Given the description of an element on the screen output the (x, y) to click on. 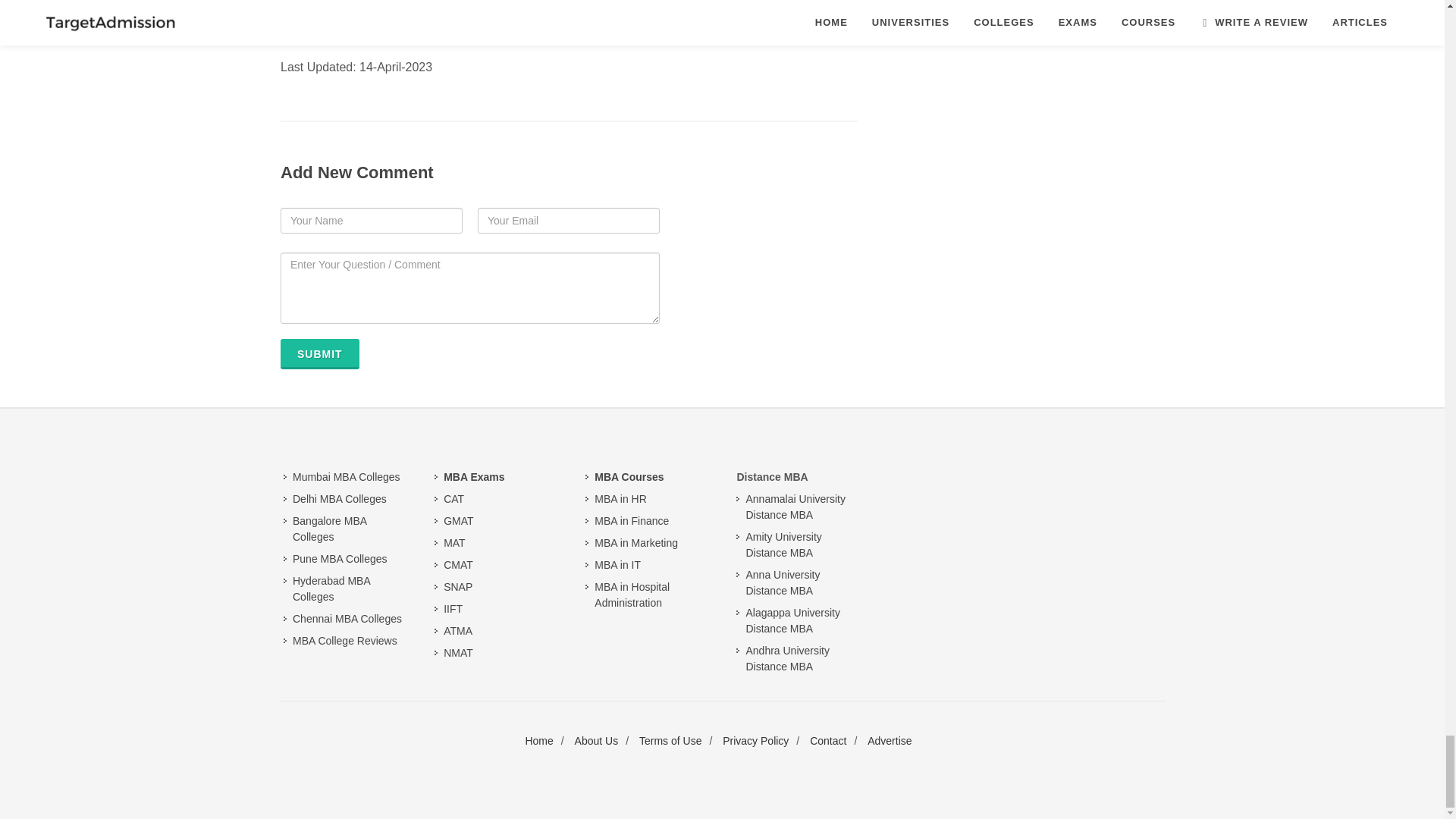
Submit (320, 354)
